Given the description of an element on the screen output the (x, y) to click on. 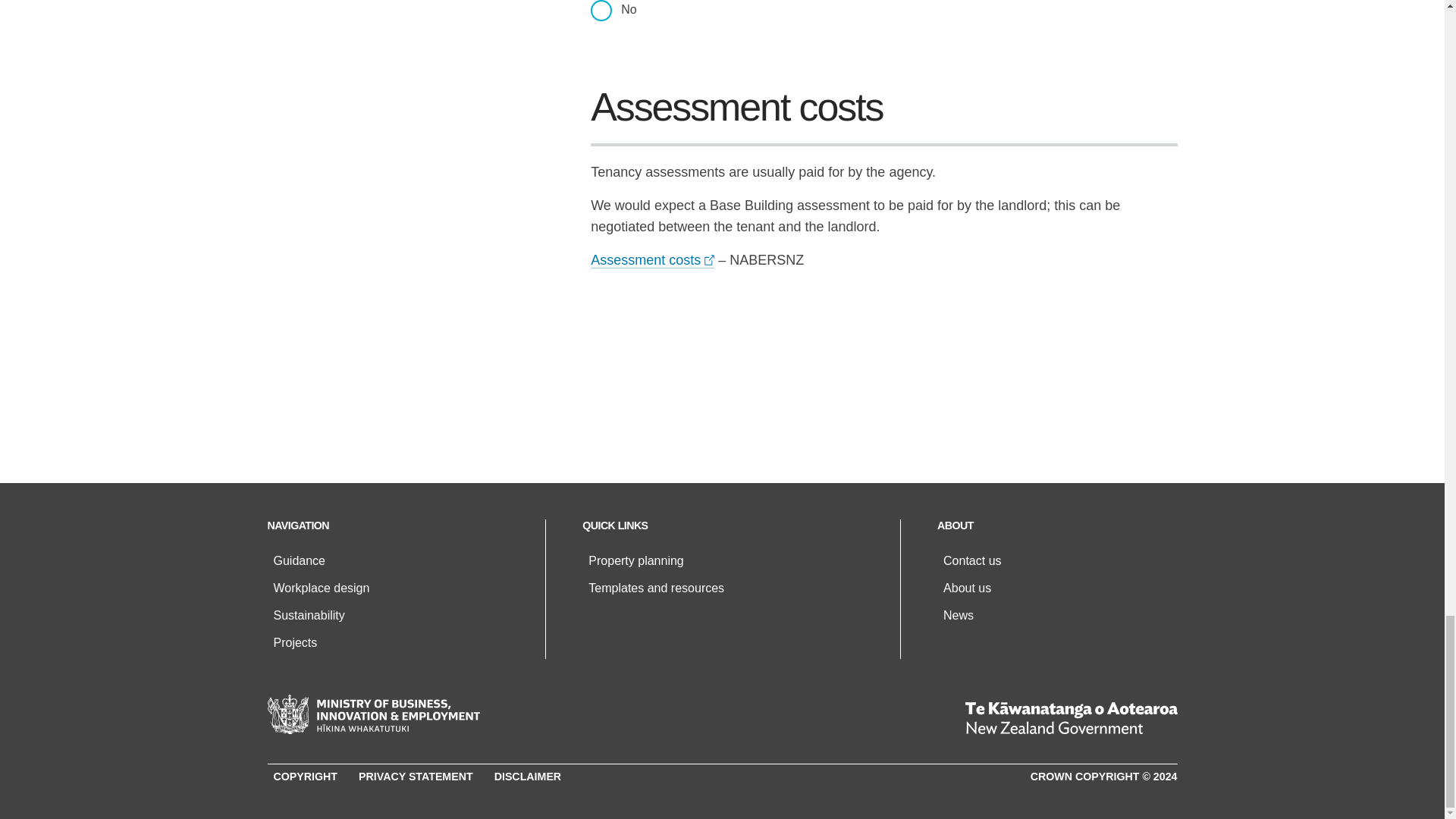
COPYRIGHT (305, 776)
Contact us (972, 560)
Guidance (298, 560)
Workplace design (321, 587)
About us (967, 587)
News (958, 615)
PRIVACY STATEMENT (415, 776)
Assessment costs (652, 260)
Templates and resources (655, 587)
Property planning (635, 560)
